Given the description of an element on the screen output the (x, y) to click on. 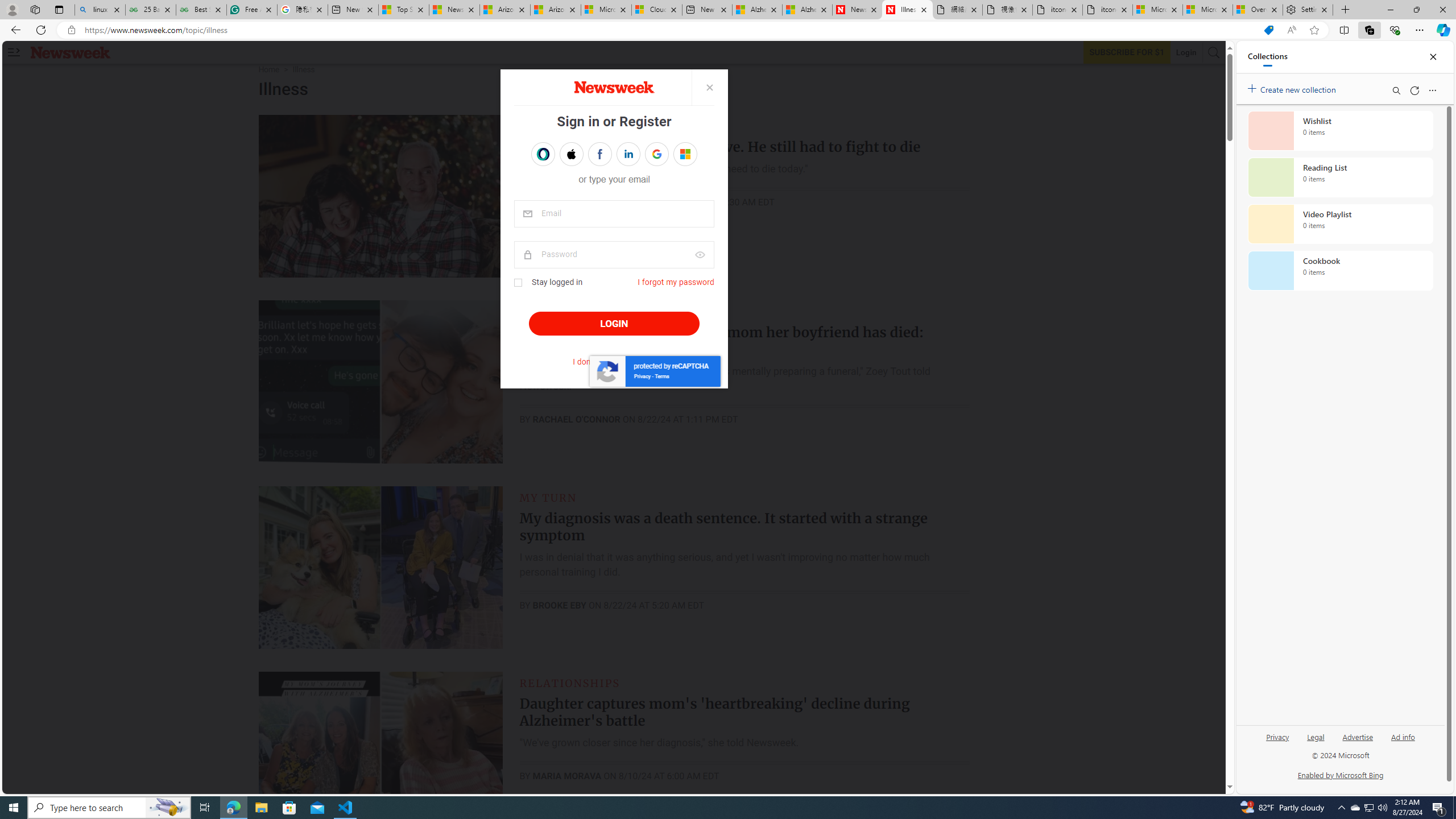
Newsweek - News, Analysis, Politics, Business, Technology (856, 9)
Best SSL Certificates Provider in India - GeeksforGeeks (201, 9)
MY TURN (547, 497)
AutomationID: side-arrow (13, 51)
Top Stories - MSN (403, 9)
Newsweek logo (70, 51)
linux basic - Search (99, 9)
Sign in with FACEBOOK (599, 154)
Subscribe to our service (1126, 52)
email (613, 213)
password (613, 254)
